Given the description of an element on the screen output the (x, y) to click on. 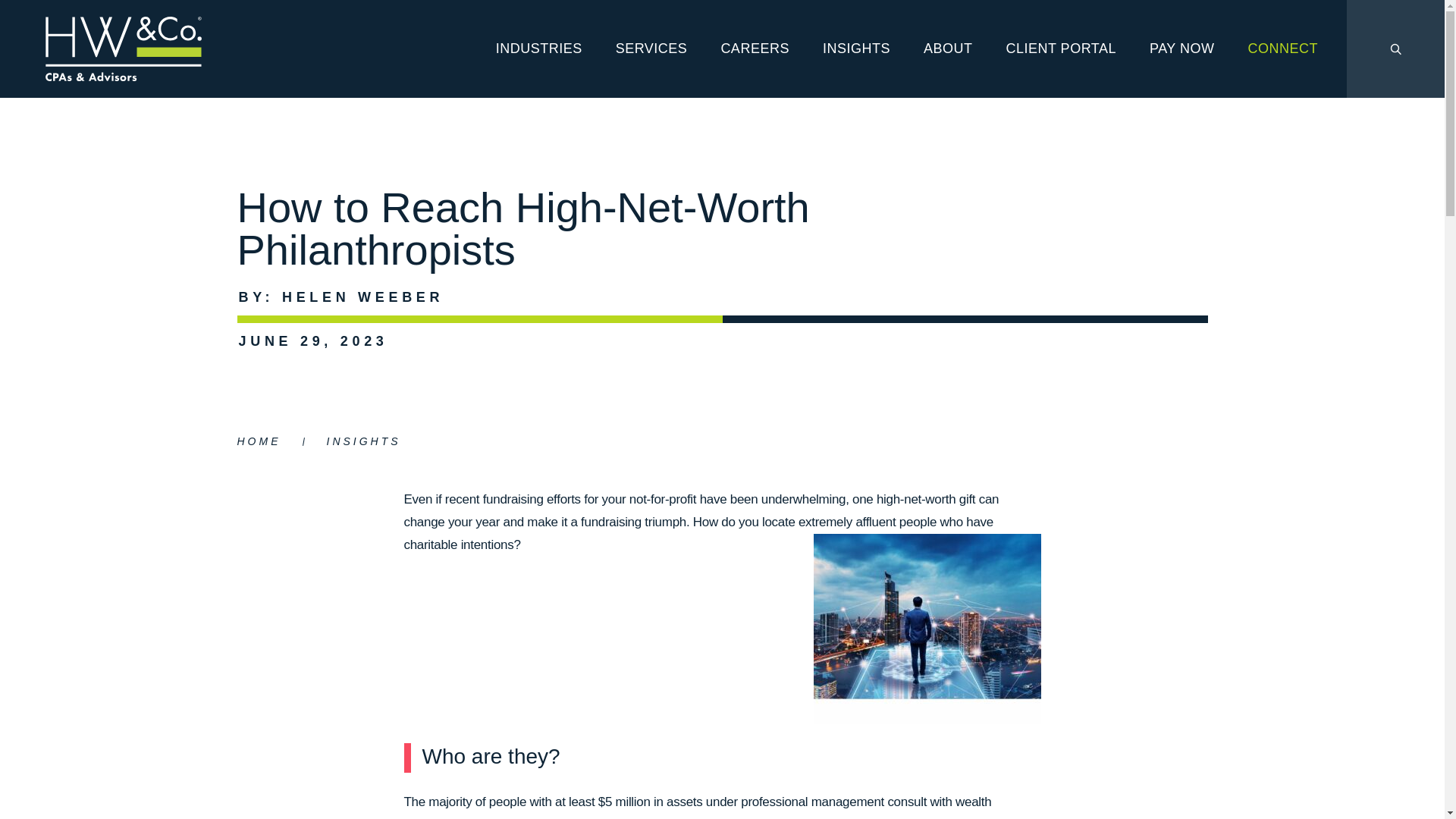
CAREERS (754, 48)
SERVICES (651, 48)
INDUSTRIES (538, 48)
